Given the description of an element on the screen output the (x, y) to click on. 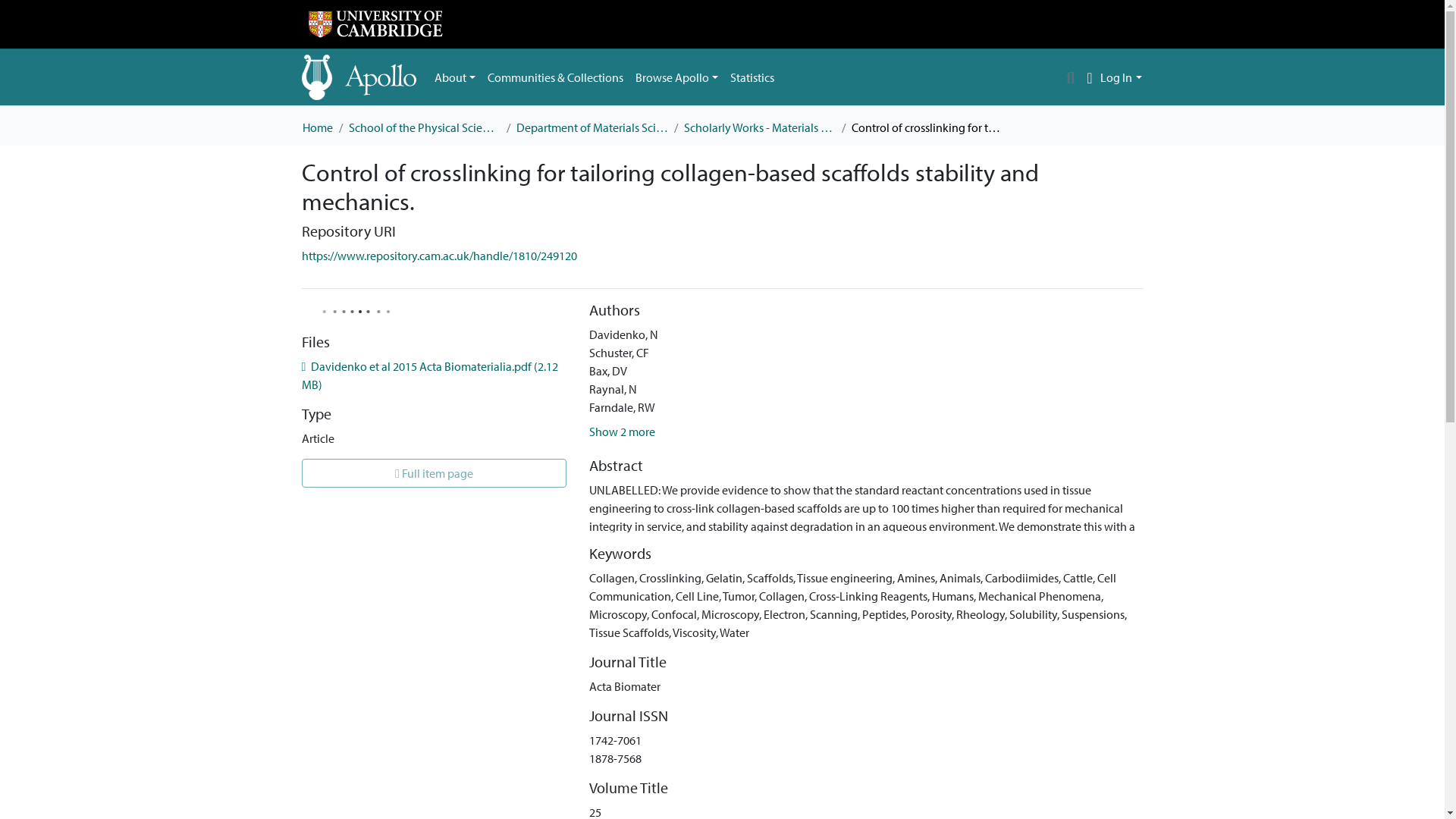
Statistics (751, 77)
Browse Apollo (675, 77)
About (454, 77)
Department of Materials Science and Metallurgy (590, 126)
Log In (1120, 77)
Show 2 more (622, 431)
Statistics (751, 77)
Language switch (1089, 76)
Scholarly Works - Materials Science and Metallurgy (759, 126)
School of the Physical Sciences (424, 126)
Home (316, 126)
Search (1070, 76)
Full item page (434, 472)
